Given the description of an element on the screen output the (x, y) to click on. 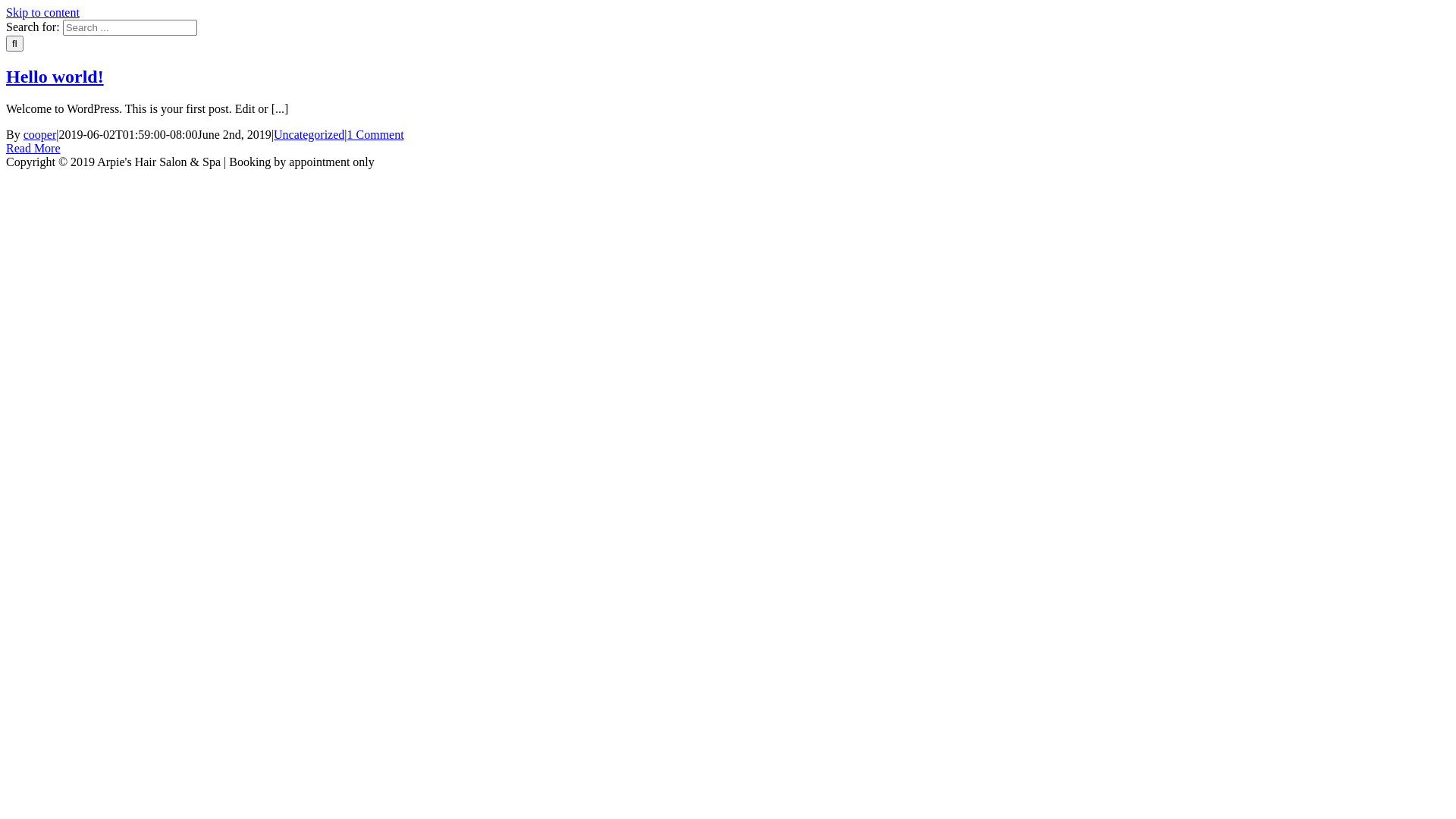
Uncategorized Element type: text (308, 134)
Hello world! Element type: text (54, 76)
1 Comment Element type: text (375, 134)
cooper Element type: text (39, 134)
Read More Element type: text (33, 147)
Skip to content Element type: text (42, 12)
